Given the description of an element on the screen output the (x, y) to click on. 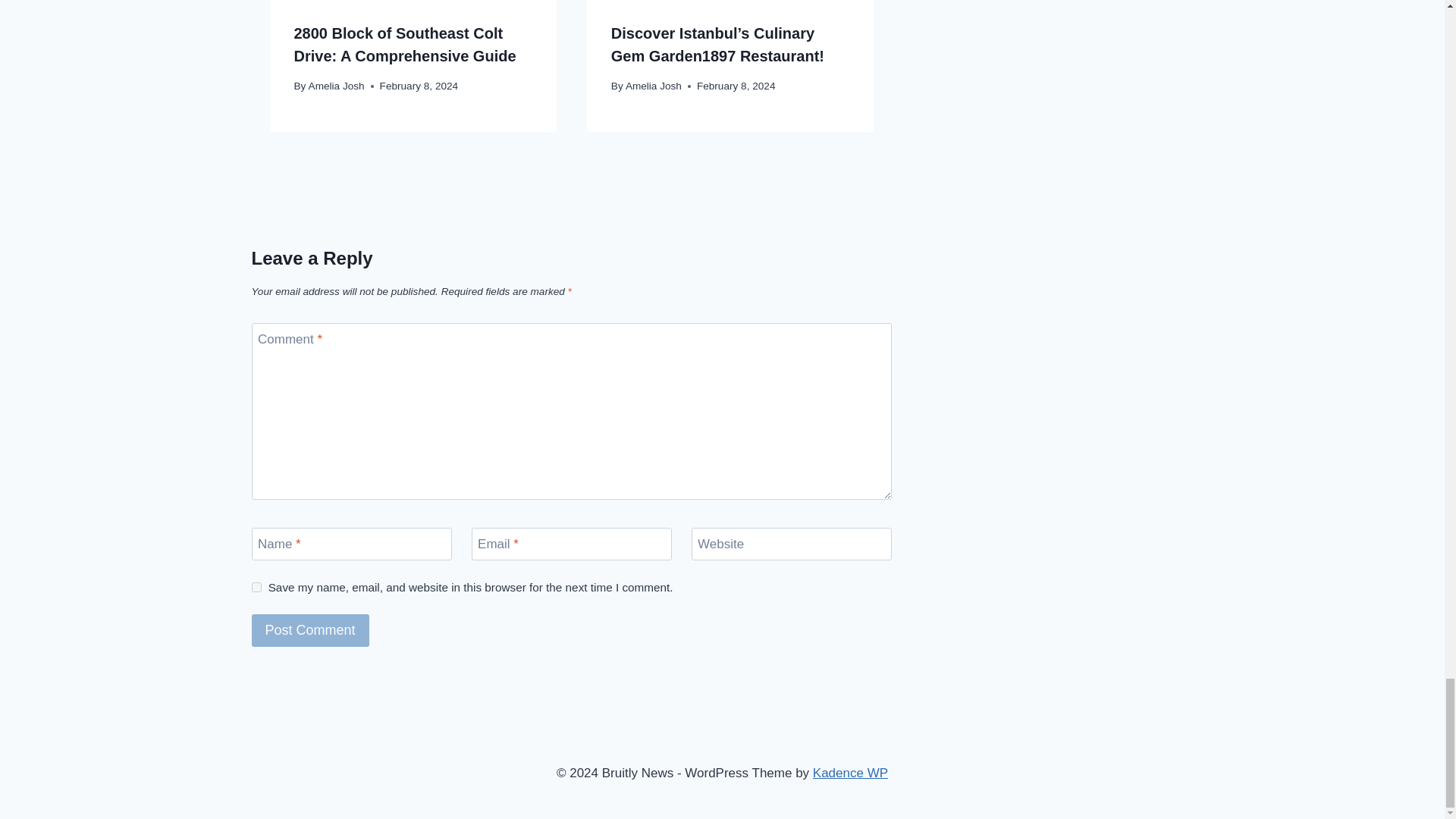
Post Comment (310, 630)
yes (256, 587)
